Given the description of an element on the screen output the (x, y) to click on. 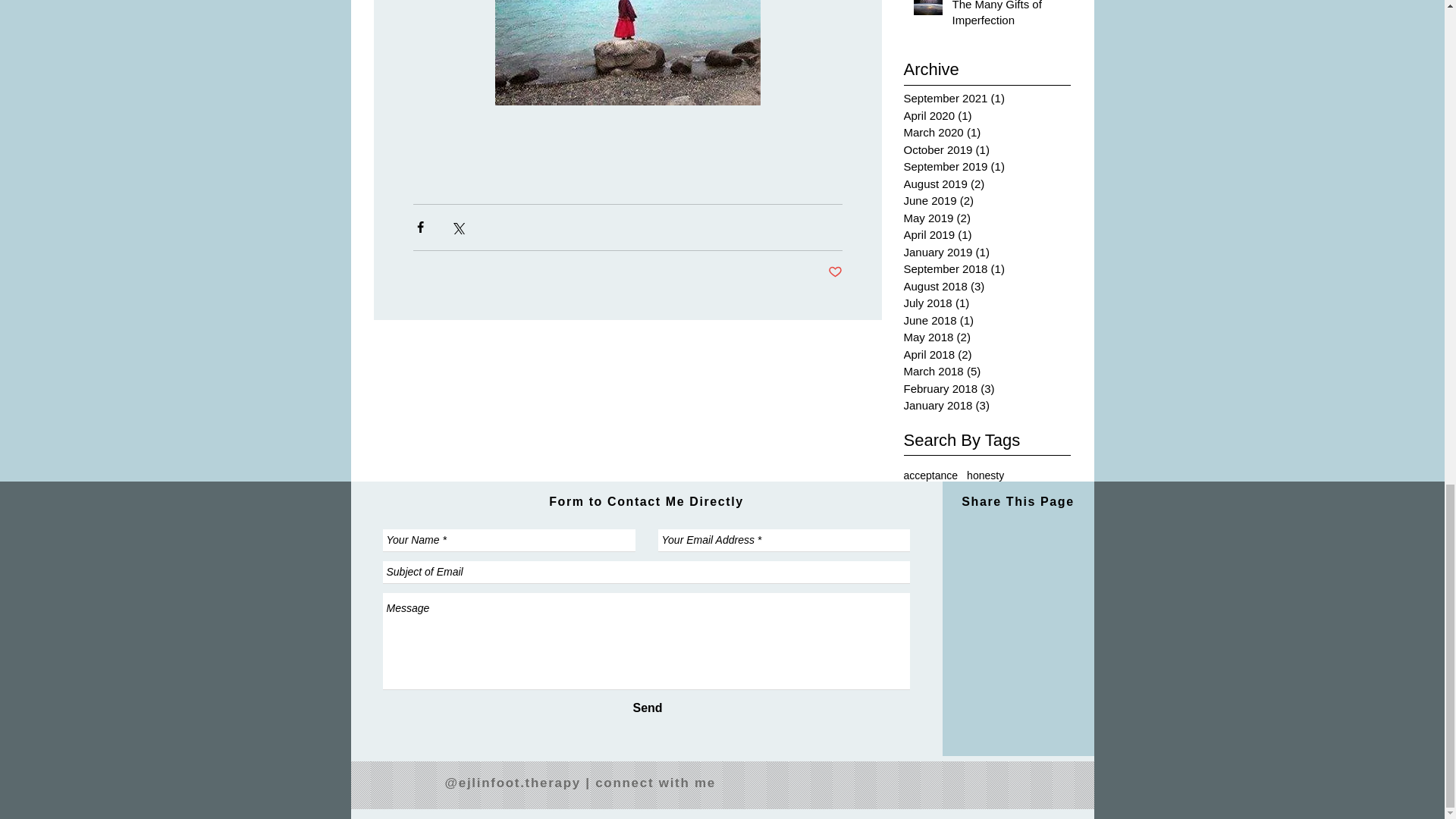
The Many Gifts of Imperfection (1006, 17)
Post not marked as liked (835, 272)
